Given the description of an element on the screen output the (x, y) to click on. 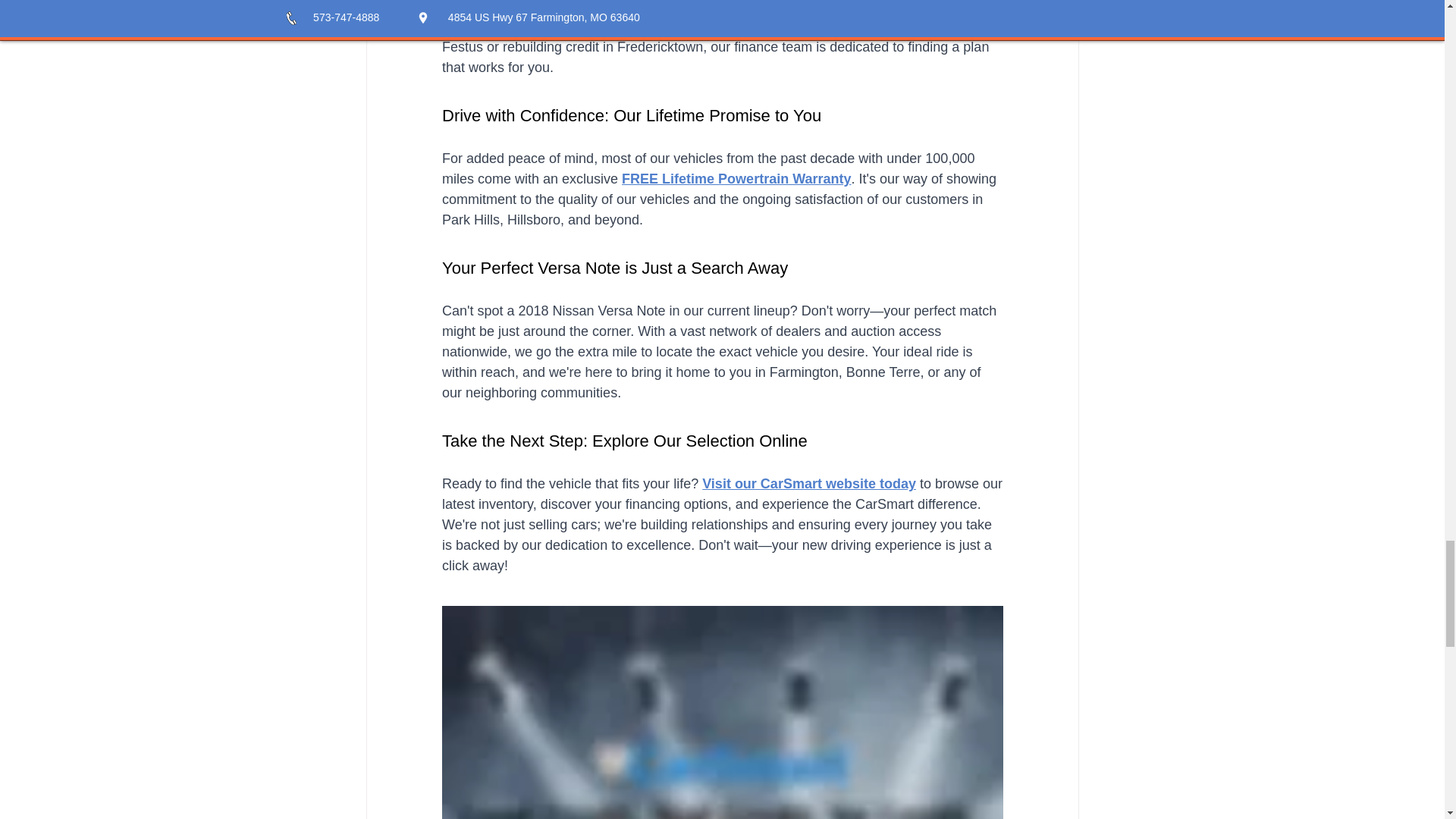
Visit our CarSmart website today (808, 483)
FREE Lifetime Powertrain Warranty (735, 178)
